Given the description of an element on the screen output the (x, y) to click on. 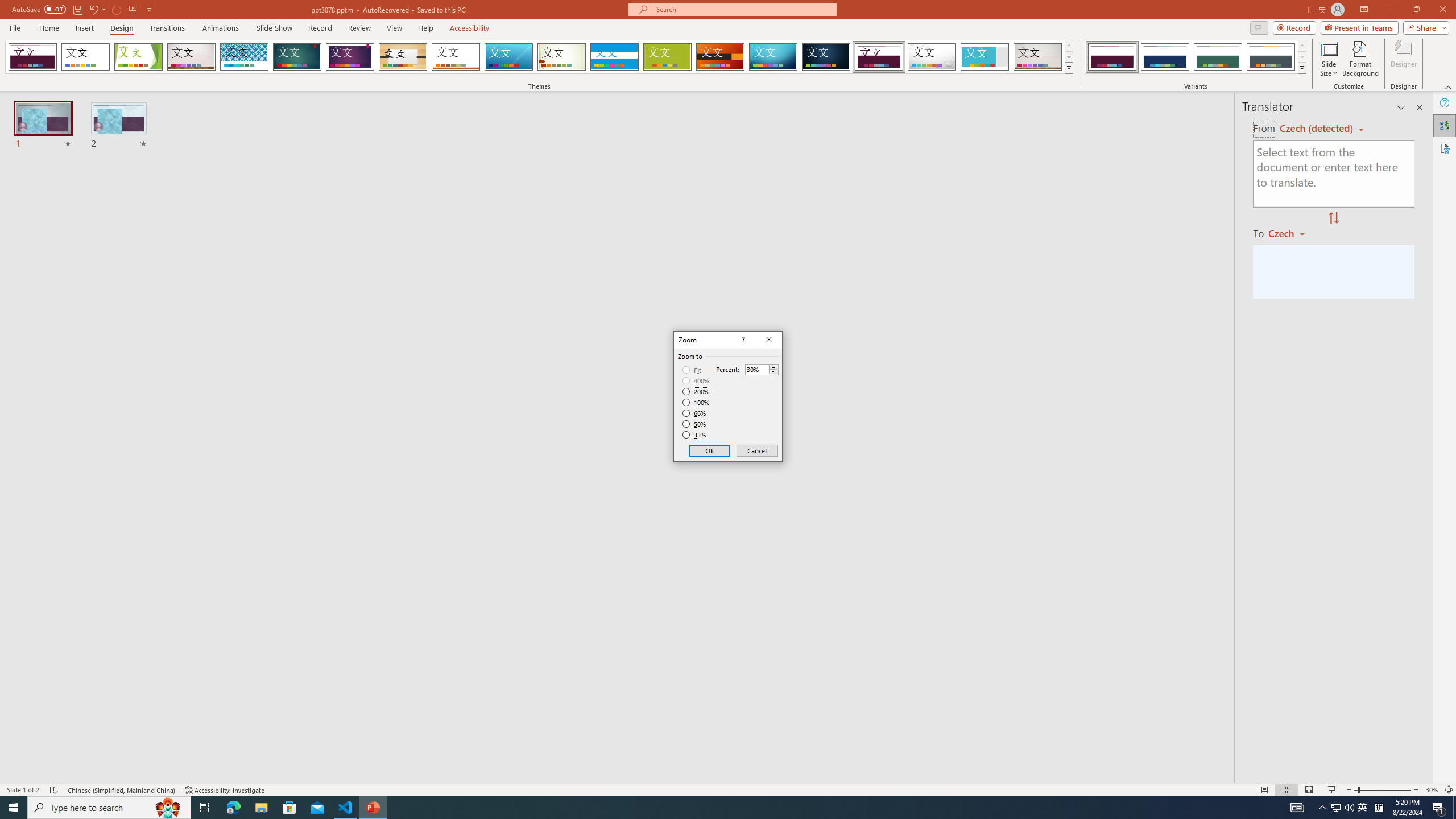
Office Theme (85, 56)
Retrospect (455, 56)
